Given the description of an element on the screen output the (x, y) to click on. 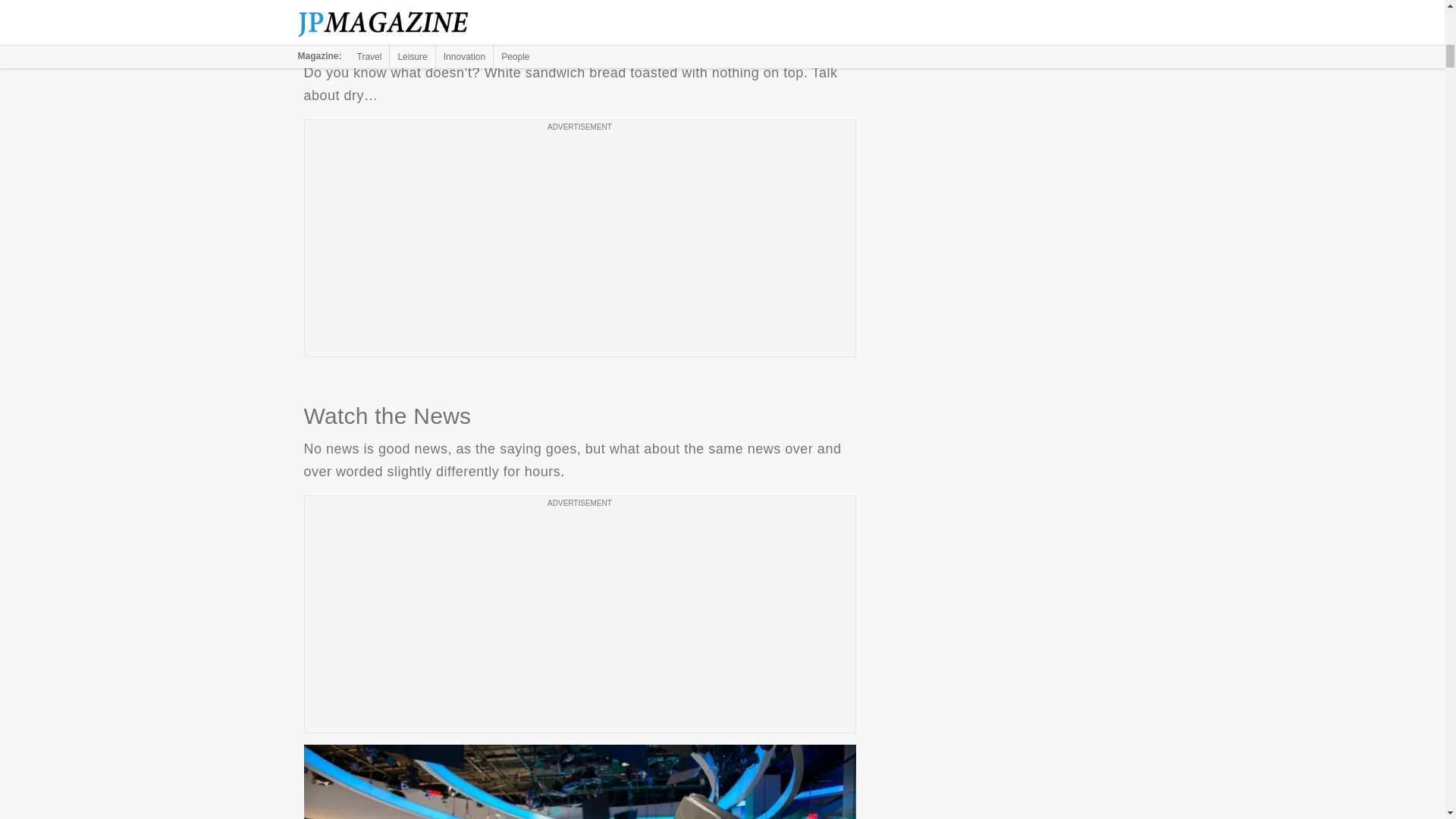
Watch the News (579, 781)
Toast, Hold the Butter (579, 17)
